Given the description of an element on the screen output the (x, y) to click on. 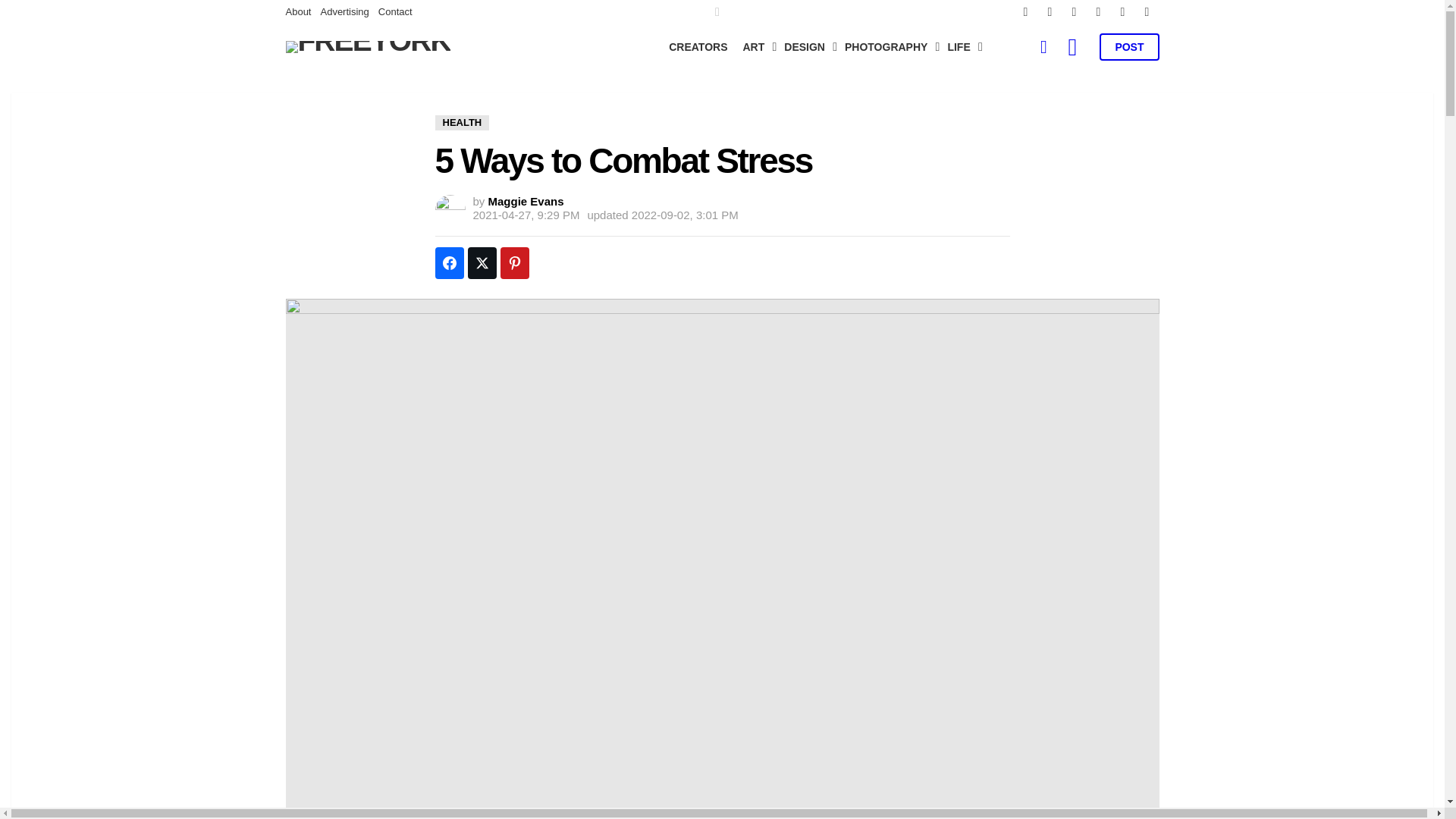
PHOTOGRAPHY (888, 47)
Posts by Maggie Evans (525, 201)
pinterest (1097, 11)
Share on Facebook (449, 263)
ART (756, 47)
facebook (1024, 11)
HEALTH (462, 122)
LIFE (960, 47)
DESIGN (806, 47)
